Given the description of an element on the screen output the (x, y) to click on. 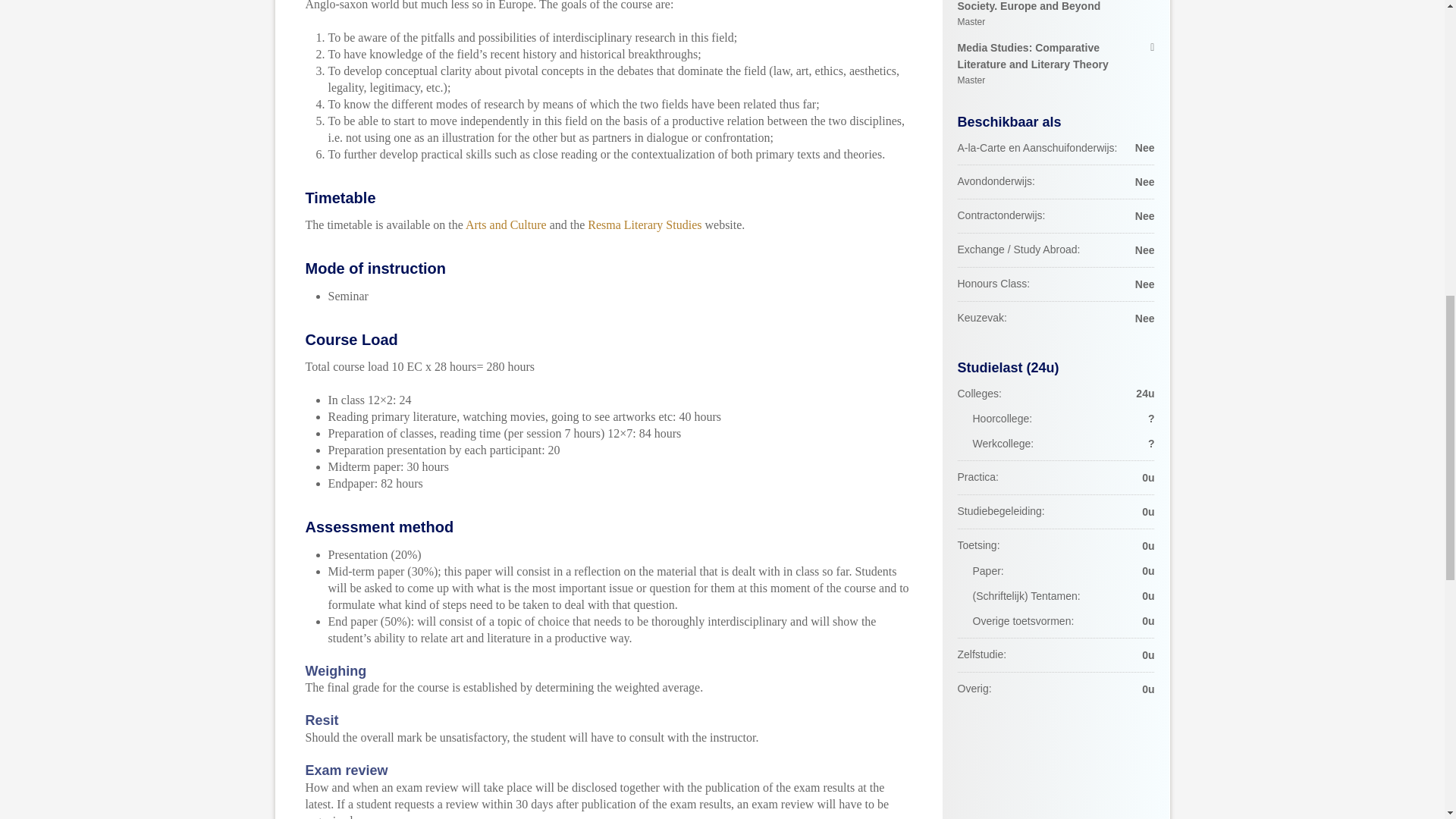
Arts and Culture (506, 224)
Resma Literary Studies (644, 224)
